Given the description of an element on the screen output the (x, y) to click on. 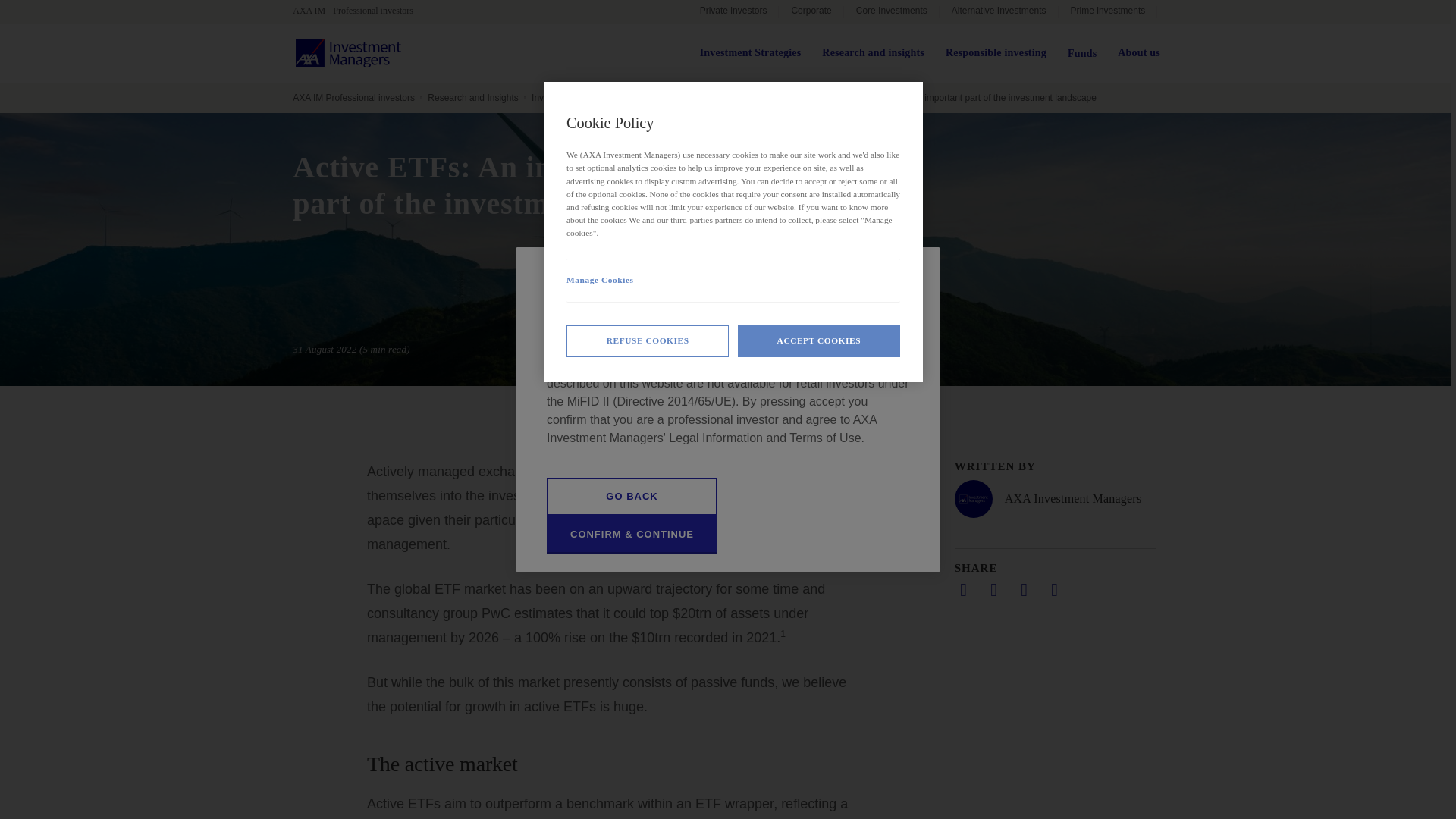
GO BACK (632, 496)
Prime investments (1107, 12)
Shared by mail (1023, 589)
Share on twitter - New window (994, 589)
Research and insights (873, 53)
Investment Strategies (751, 53)
Corporate (810, 12)
AXA IM - Professional investors, Home (360, 10)
Core Investments (891, 12)
Copy URL (1054, 589)
